Given the description of an element on the screen output the (x, y) to click on. 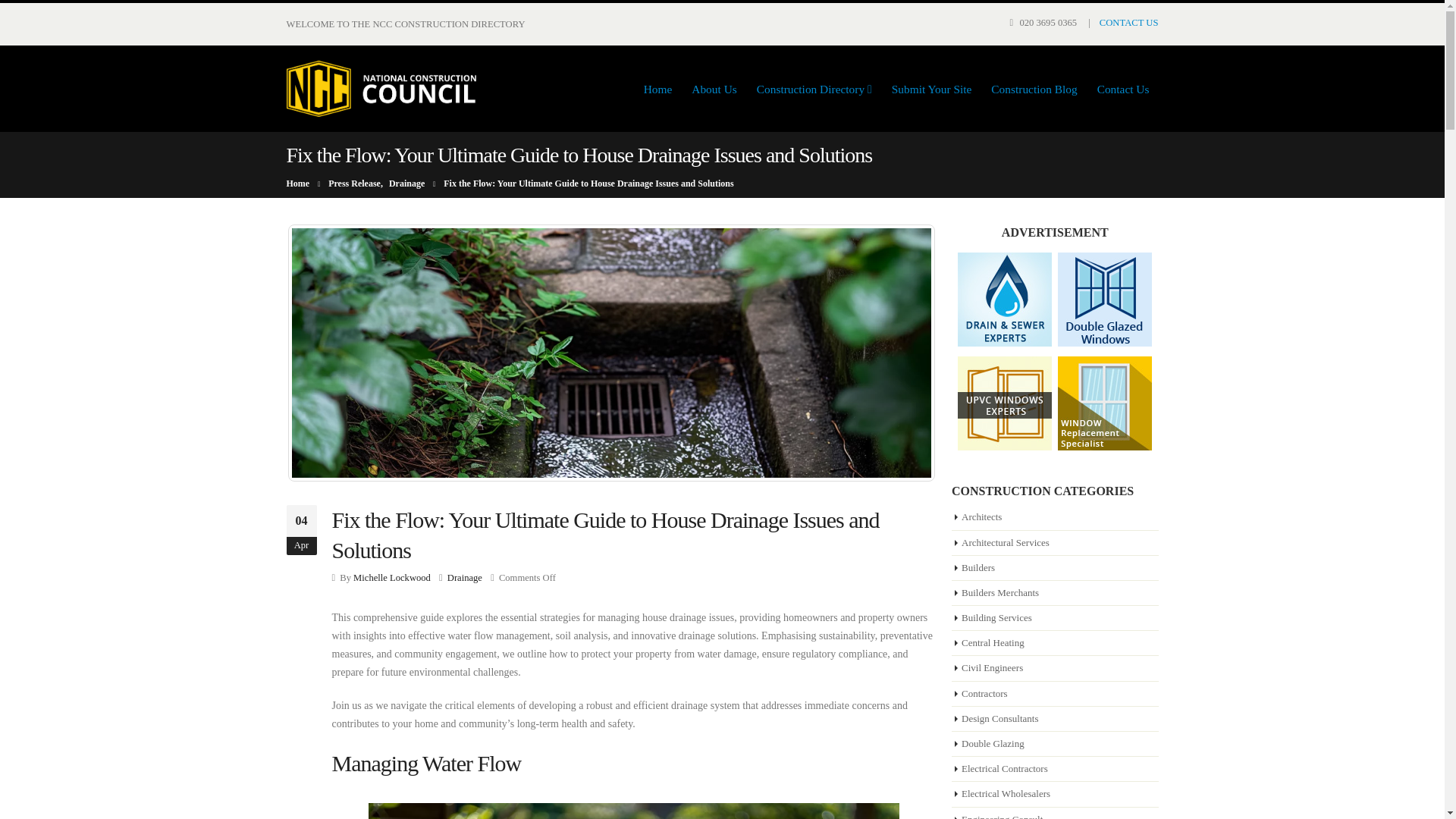
About Us (713, 89)
Home (657, 89)
NCC -  (381, 88)
Posts by Michelle Lockwood (391, 577)
Construction Blog (1033, 89)
Construction Directory (814, 89)
CONTACT US (1128, 22)
Submit Your Site (931, 89)
